Given the description of an element on the screen output the (x, y) to click on. 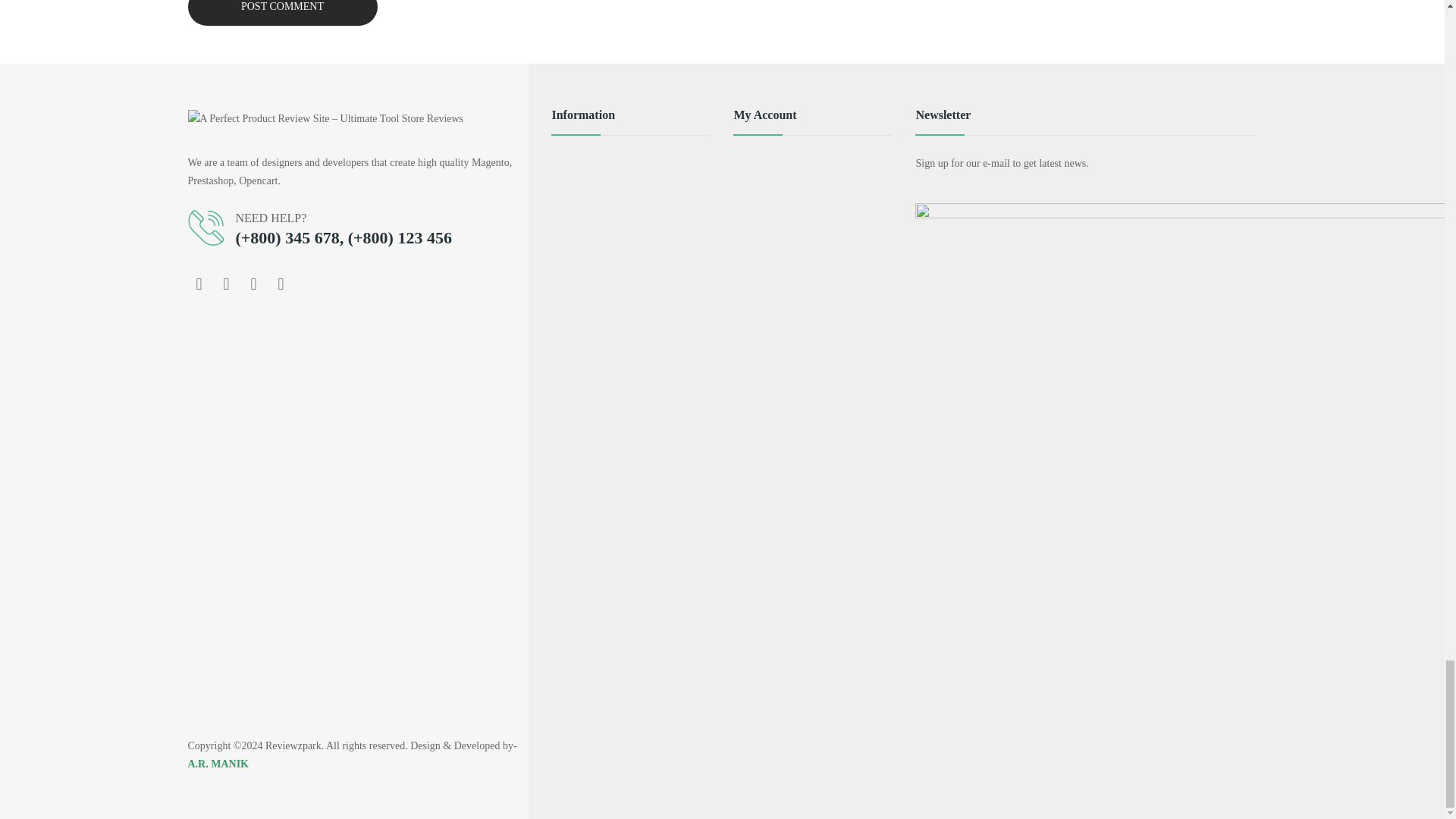
Linkedin (280, 284)
Facebook (199, 284)
Post Comment (282, 12)
Twitter (226, 284)
Instagram (253, 284)
